Given the description of an element on the screen output the (x, y) to click on. 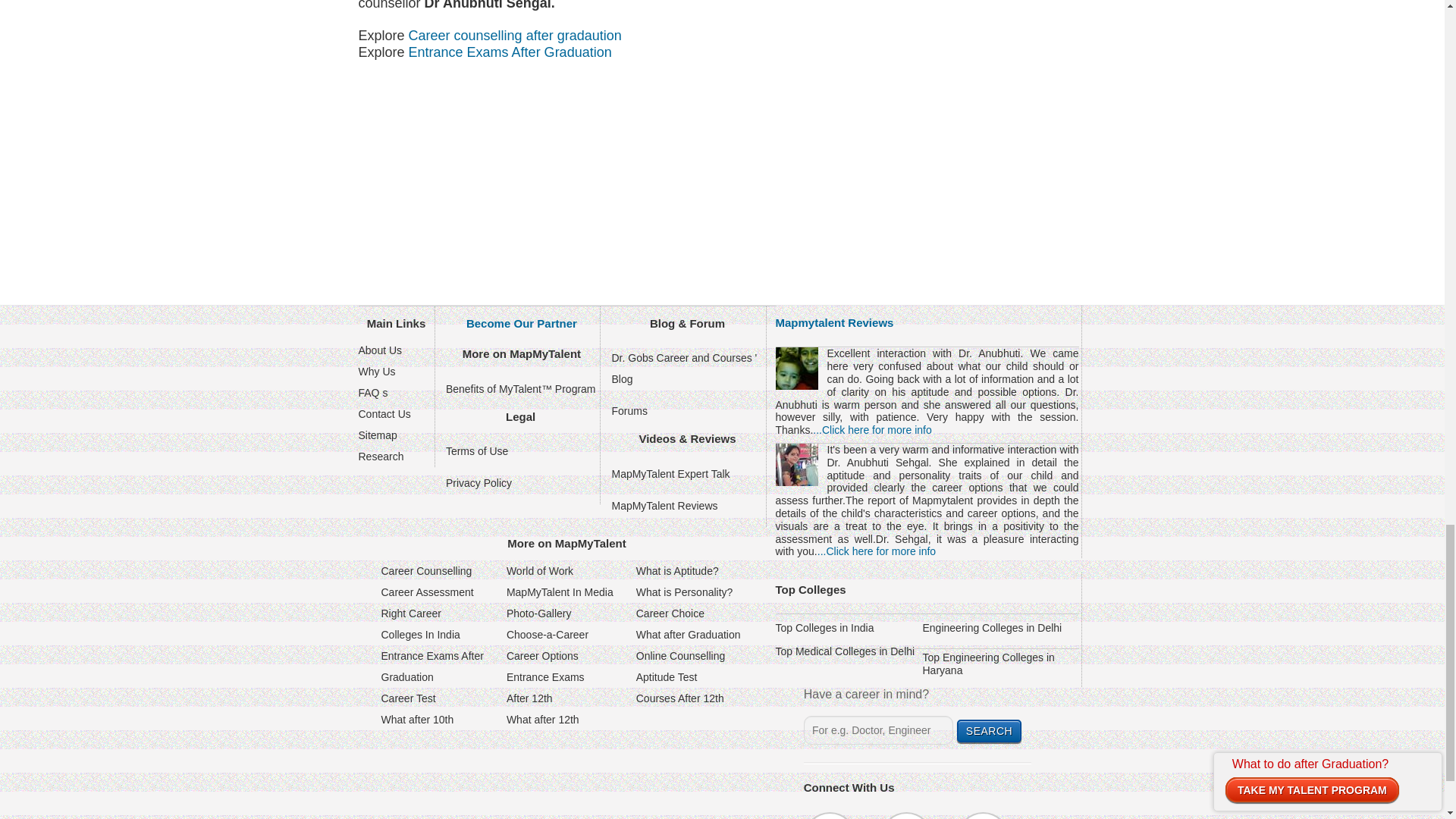
Sitemap (377, 435)
Privacy Policy (478, 482)
Why Us (376, 371)
About Us (379, 349)
MapMyTalent Expert Talk (670, 473)
Contact Us (431, 666)
MapMyTalent Reviews (384, 413)
Become Our Partner (664, 505)
Entrance Exams After Graduation (520, 323)
